Given the description of an element on the screen output the (x, y) to click on. 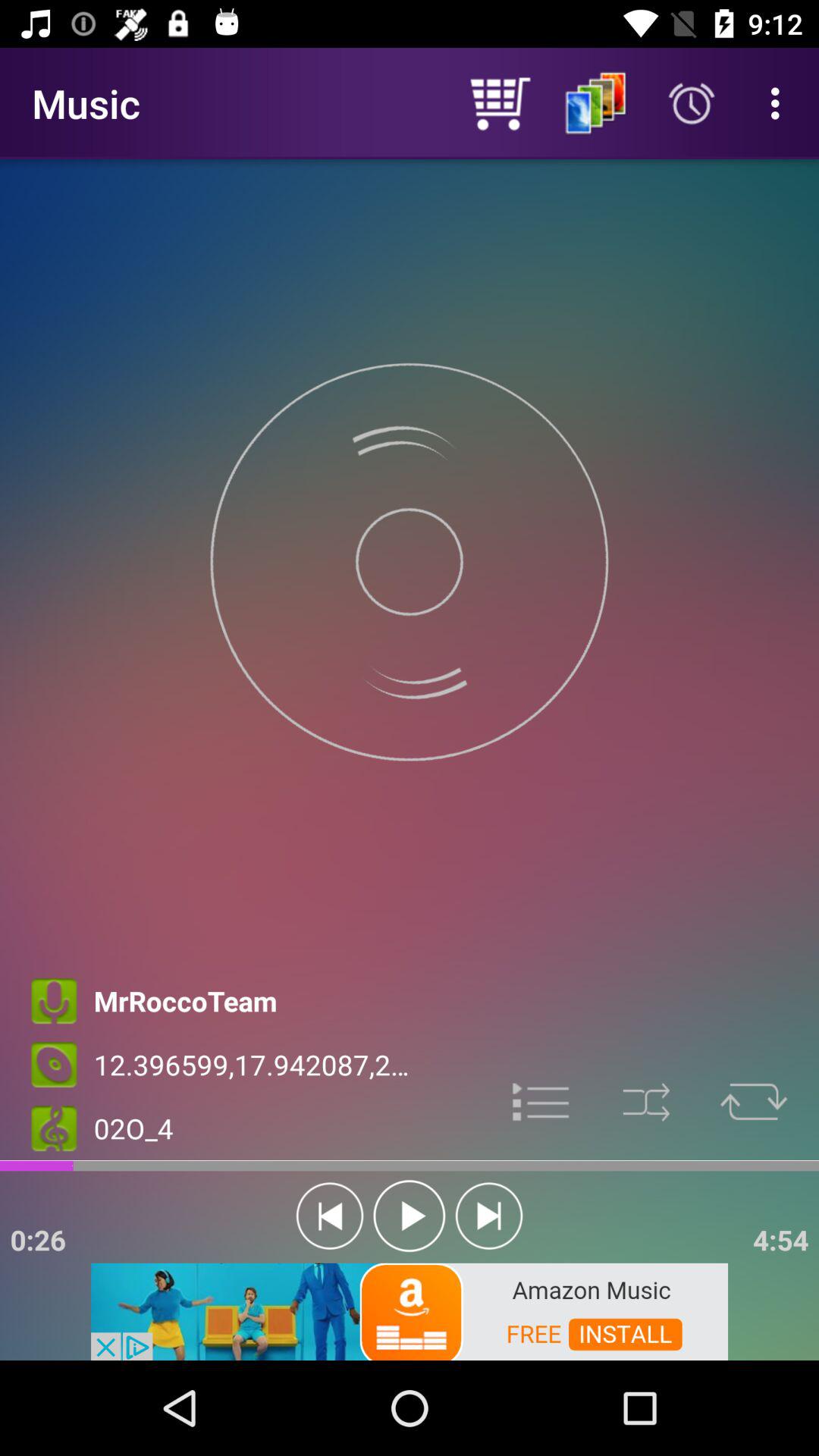
next (488, 1215)
